Given the description of an element on the screen output the (x, y) to click on. 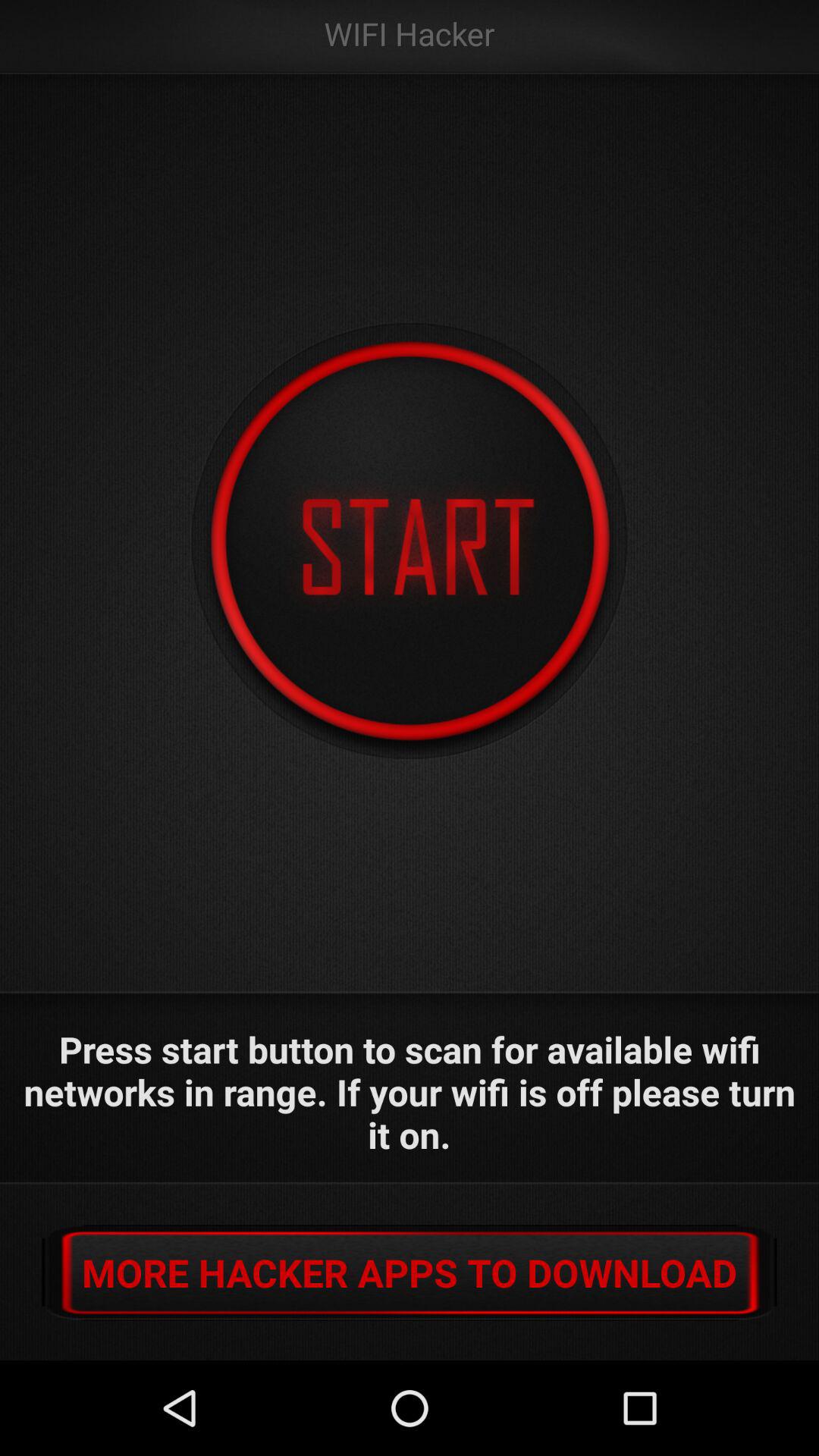
click to start (409, 541)
